Given the description of an element on the screen output the (x, y) to click on. 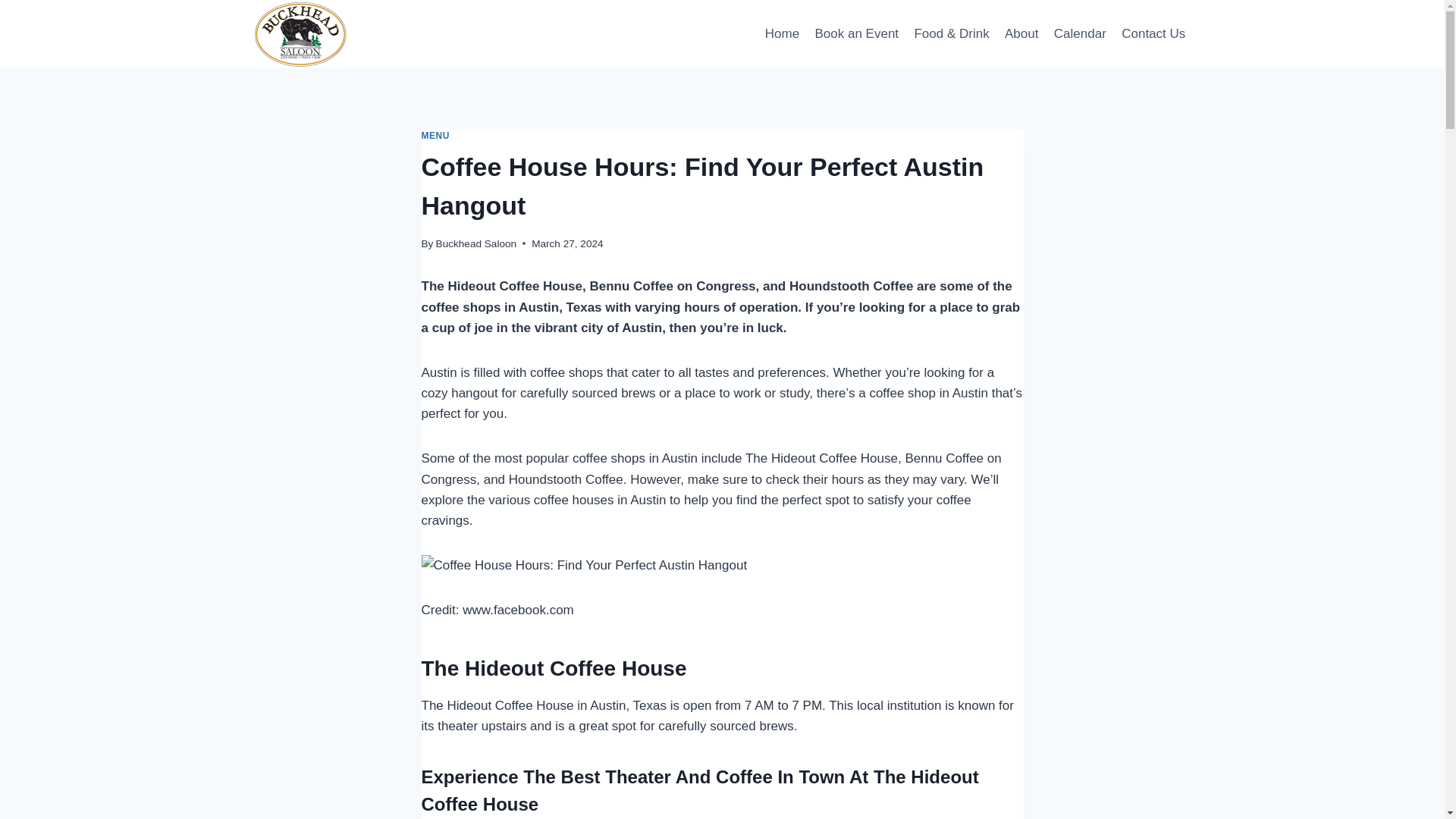
Home (782, 33)
About (1021, 33)
Contact Us (1152, 33)
Buckhead Saloon (475, 243)
Calendar (1079, 33)
Book an Event (855, 33)
MENU (435, 135)
